Given the description of an element on the screen output the (x, y) to click on. 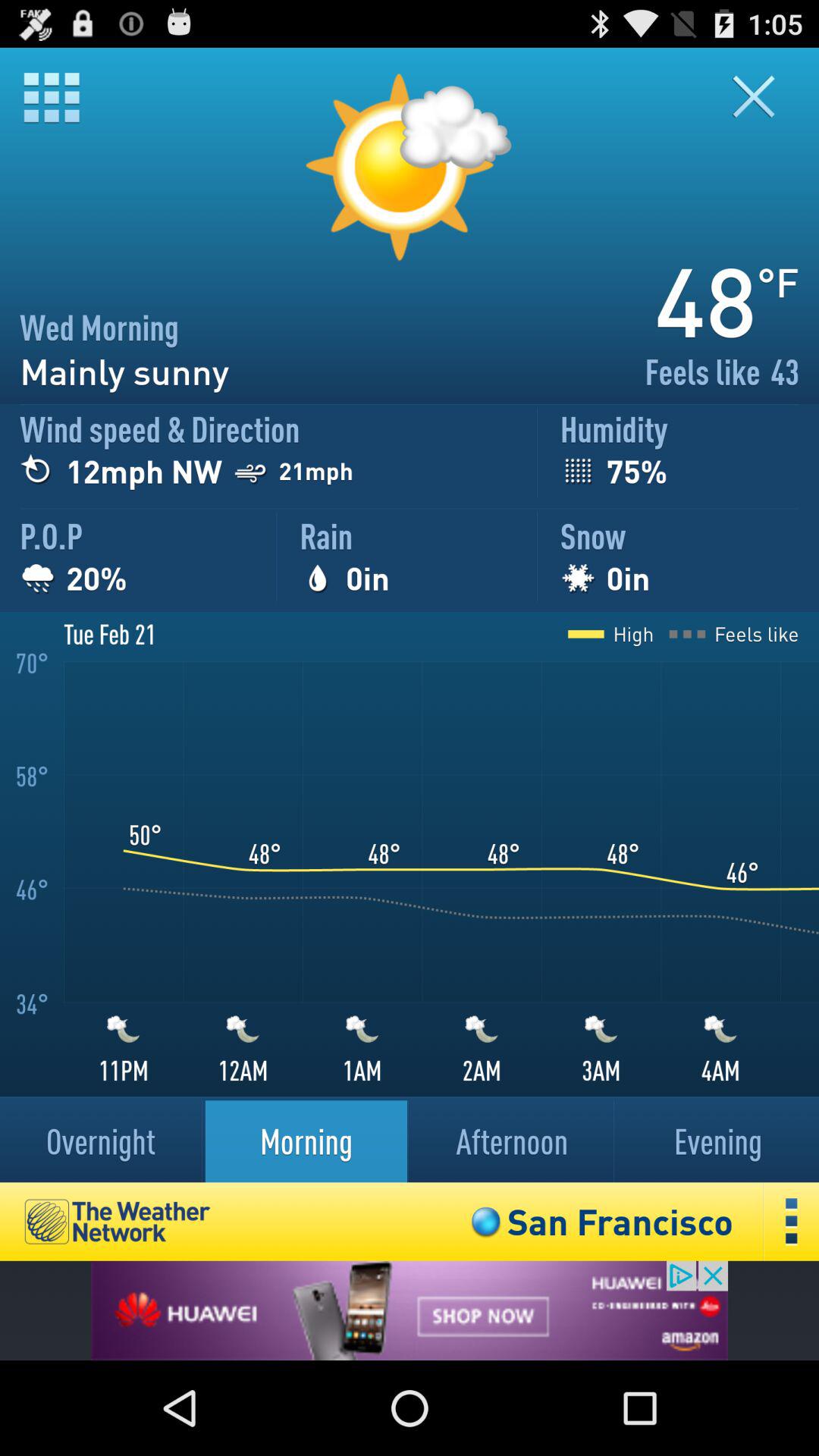
close button (763, 96)
